Given the description of an element on the screen output the (x, y) to click on. 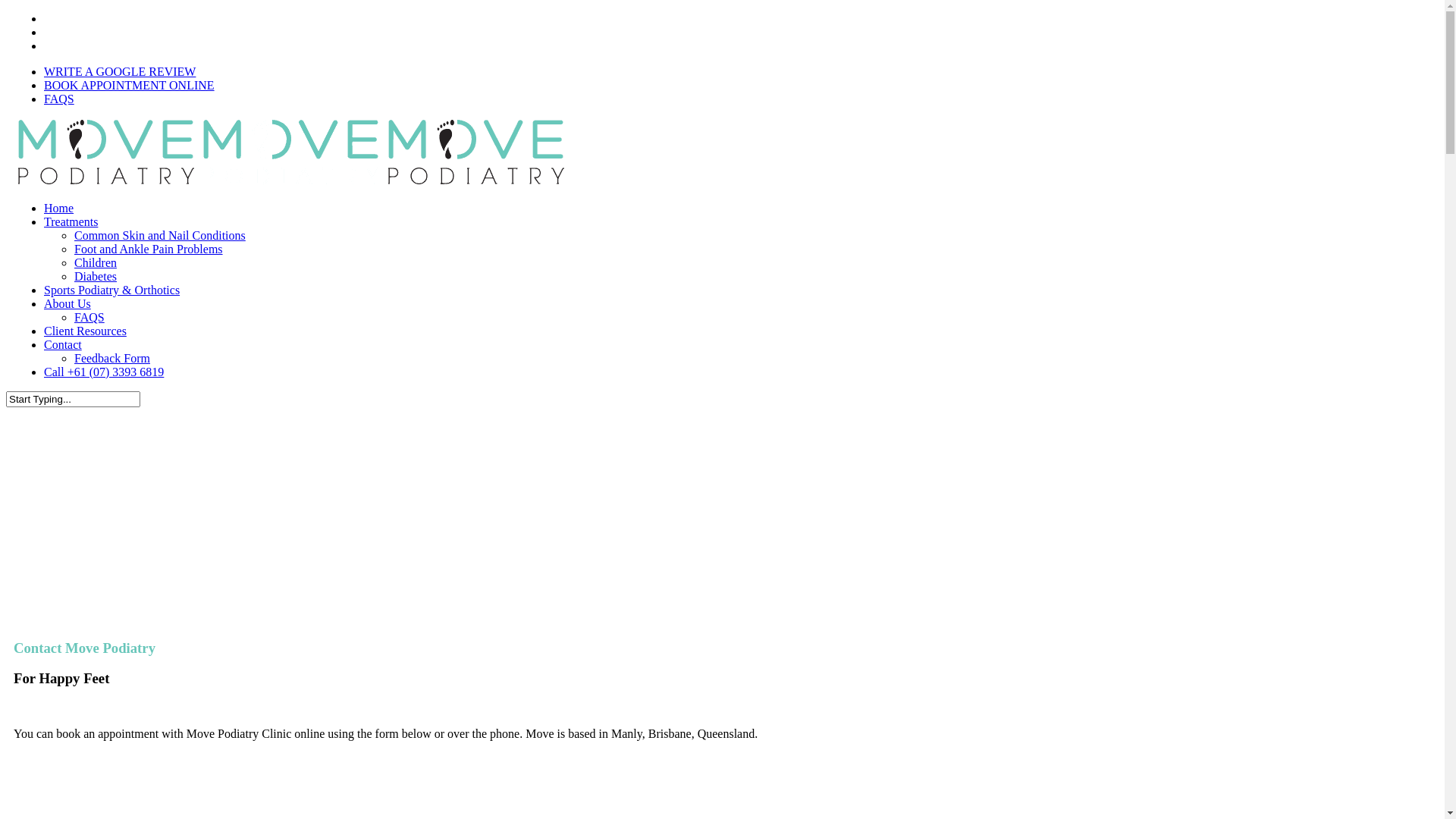
Diabetes Element type: text (95, 275)
Sports Podiatry & Orthotics Element type: text (111, 289)
FAQS Element type: text (89, 316)
Foot and Ankle Pain Problems Element type: text (148, 248)
Treatments Element type: text (70, 221)
Home Element type: text (58, 207)
About Us Element type: text (67, 303)
Children Element type: text (95, 262)
Feedback Form Element type: text (112, 357)
Contact Element type: text (62, 344)
FAQS Element type: text (58, 98)
Common Skin and Nail Conditions Element type: text (159, 235)
Client Resources Element type: text (84, 330)
WRITE A GOOGLE REVIEW Element type: text (119, 71)
BOOK APPOINTMENT ONLINE Element type: text (128, 84)
Call +61 (07) 3393 6819 Element type: text (103, 371)
